Given the description of an element on the screen output the (x, y) to click on. 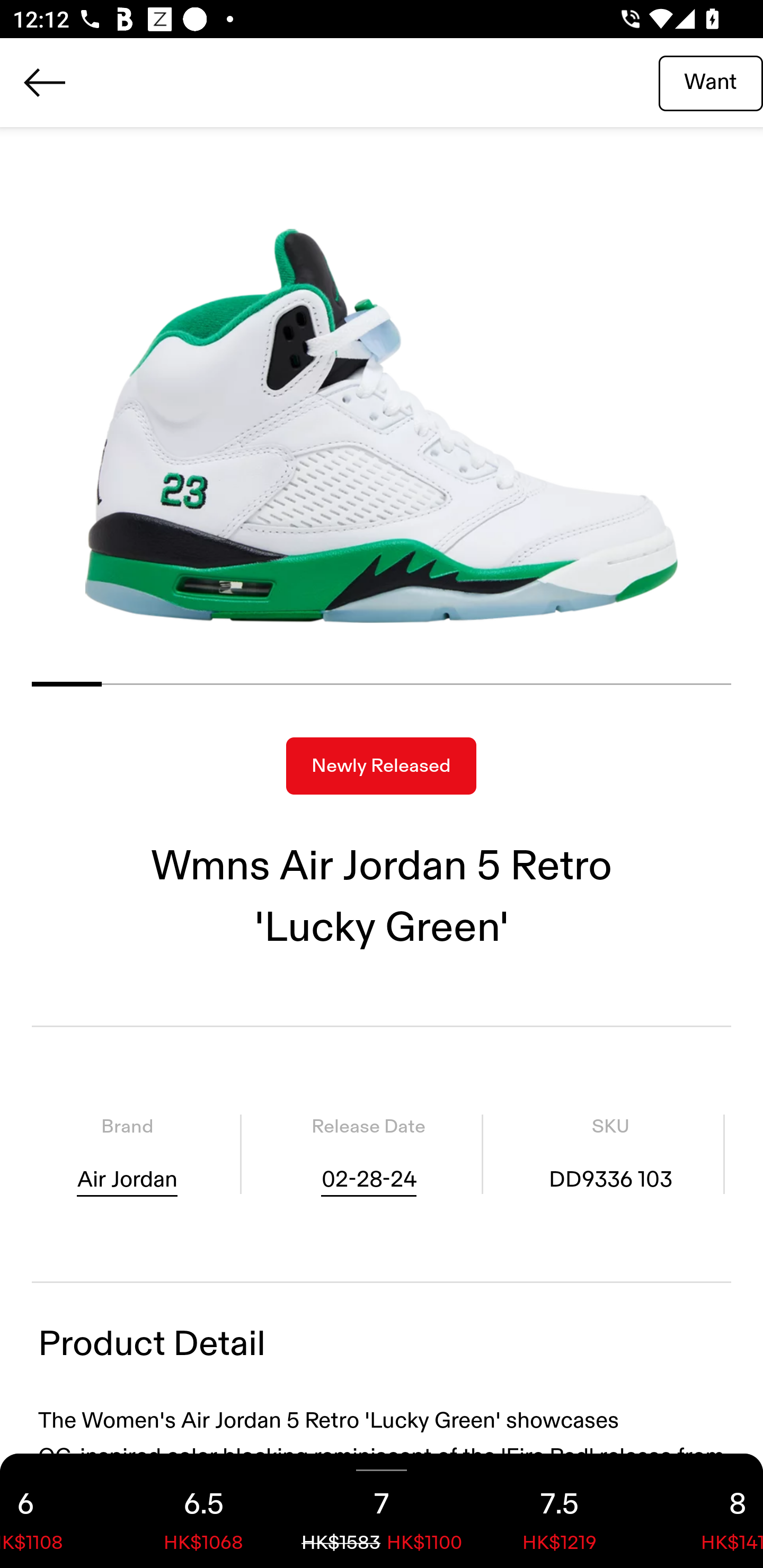
Want (710, 82)
Newly Released (381, 765)
Brand Air Jordan (126, 1153)
Release Date 02-28-24 (368, 1153)
SKU DD9336 103 (609, 1153)
6 HK$1108 (57, 1510)
6.5 HK$1068 (203, 1510)
7 HK$1583 HK$1100 (381, 1510)
7.5 HK$1219 (559, 1510)
8 HK$1417 (705, 1510)
